Given the description of an element on the screen output the (x, y) to click on. 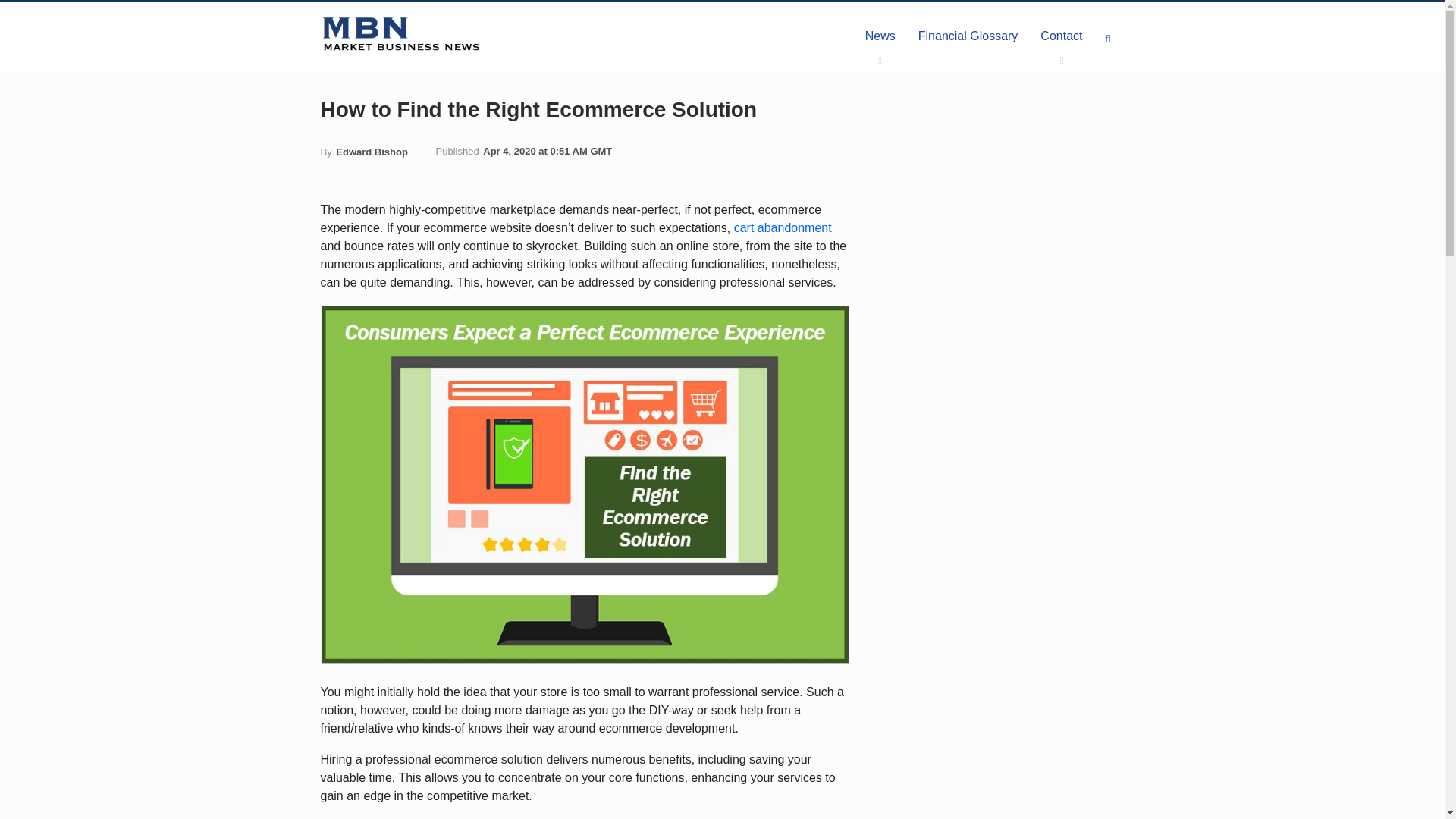
Financial Glossary (968, 36)
Browse Author Articles (363, 152)
cart abandonment (782, 227)
By Edward Bishop (363, 152)
Contact (1061, 36)
